Given the description of an element on the screen output the (x, y) to click on. 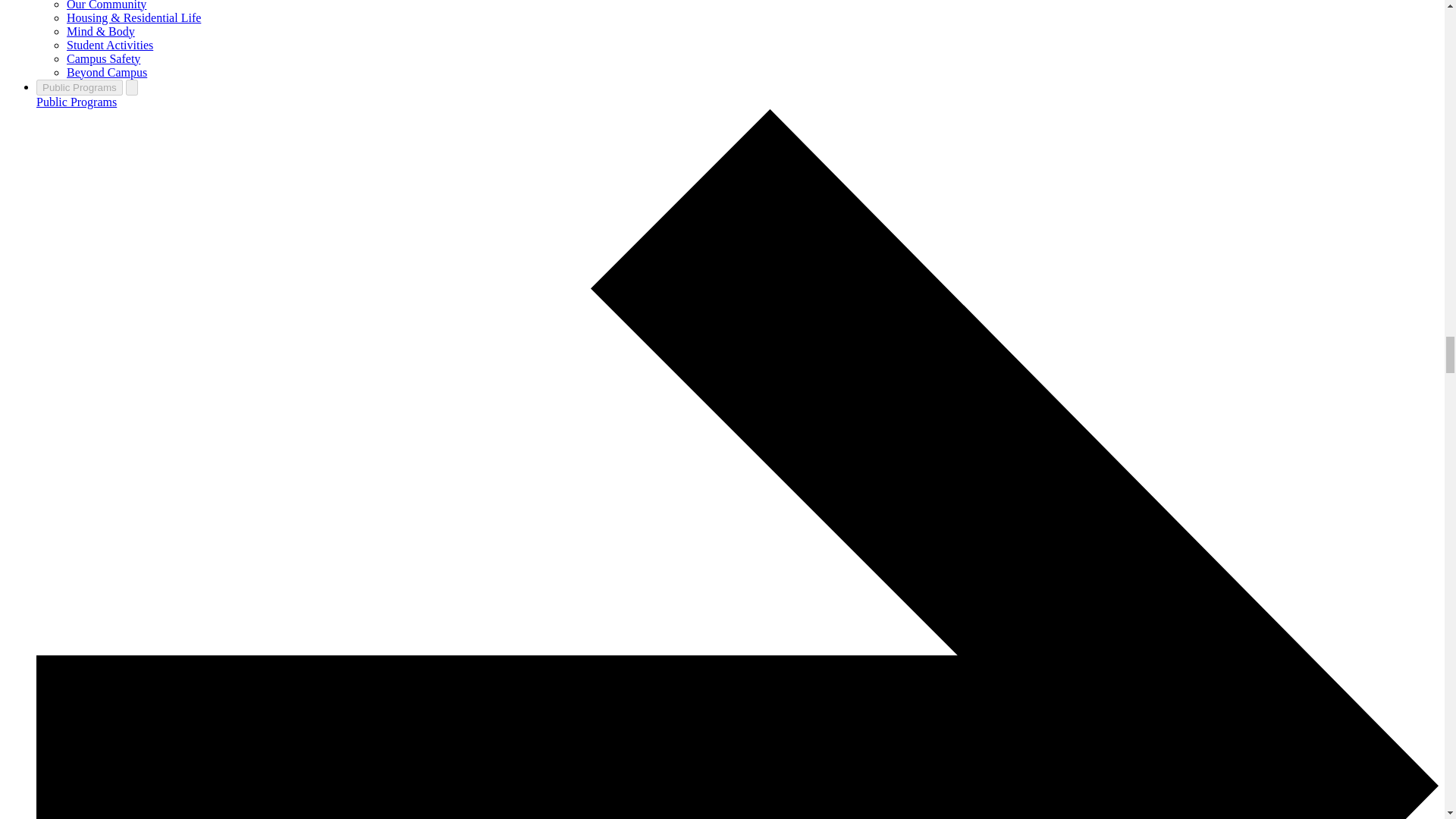
Campus Safety (102, 58)
Beyond Campus (106, 72)
Our Community (106, 5)
Student Activities (109, 44)
